Given the description of an element on the screen output the (x, y) to click on. 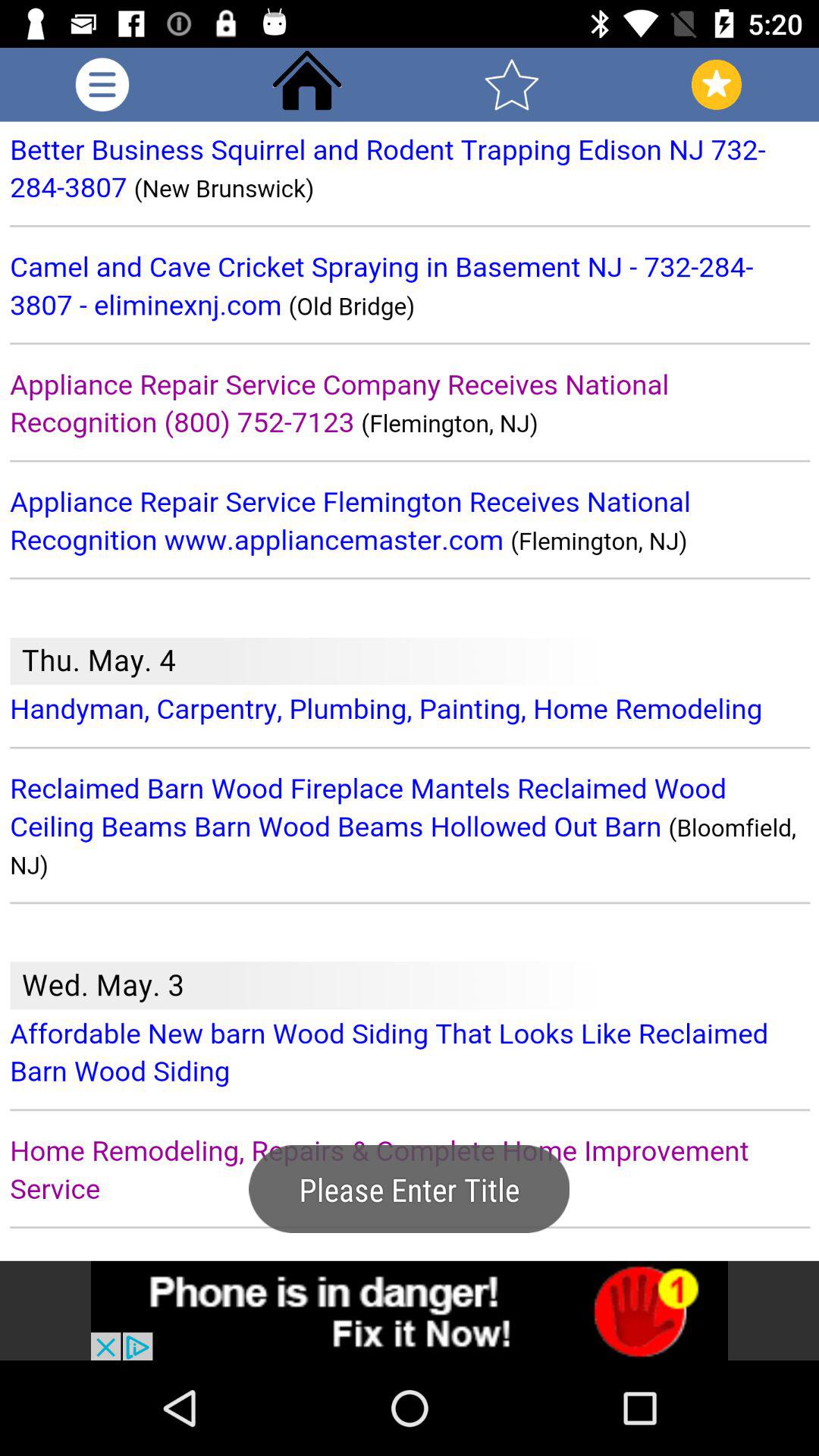
click more option (102, 84)
